Given the description of an element on the screen output the (x, y) to click on. 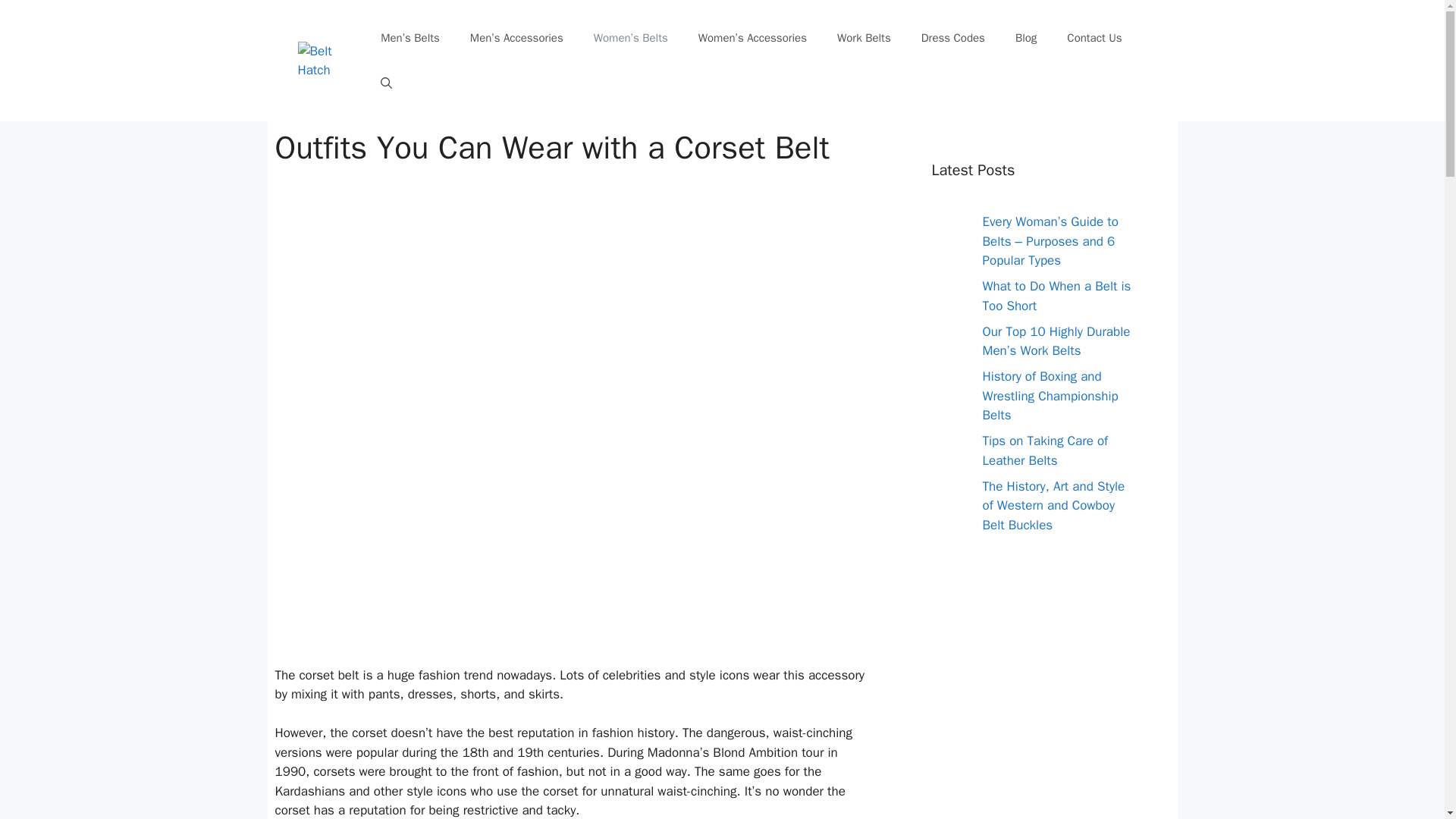
What to Do When a Belt is Too Short (1056, 295)
Tips on Taking Care of Leather Belts (1045, 450)
Dress Codes (952, 37)
Blog (1025, 37)
Contact Us (1094, 37)
Work Belts (863, 37)
History of Boxing and Wrestling Championship Belts (1050, 395)
